Given the description of an element on the screen output the (x, y) to click on. 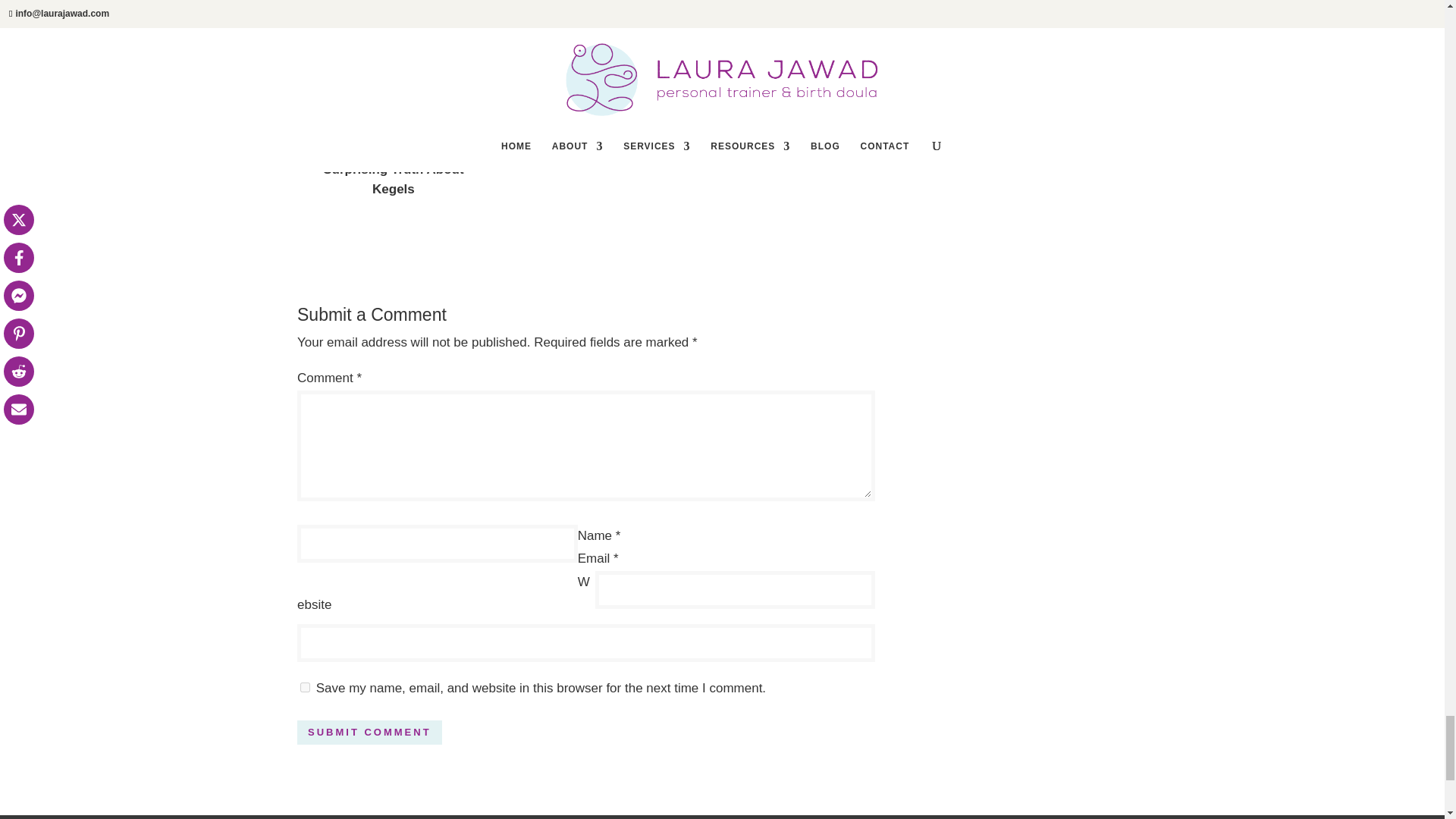
Submit Comment (369, 732)
yes (304, 687)
